Given the description of an element on the screen output the (x, y) to click on. 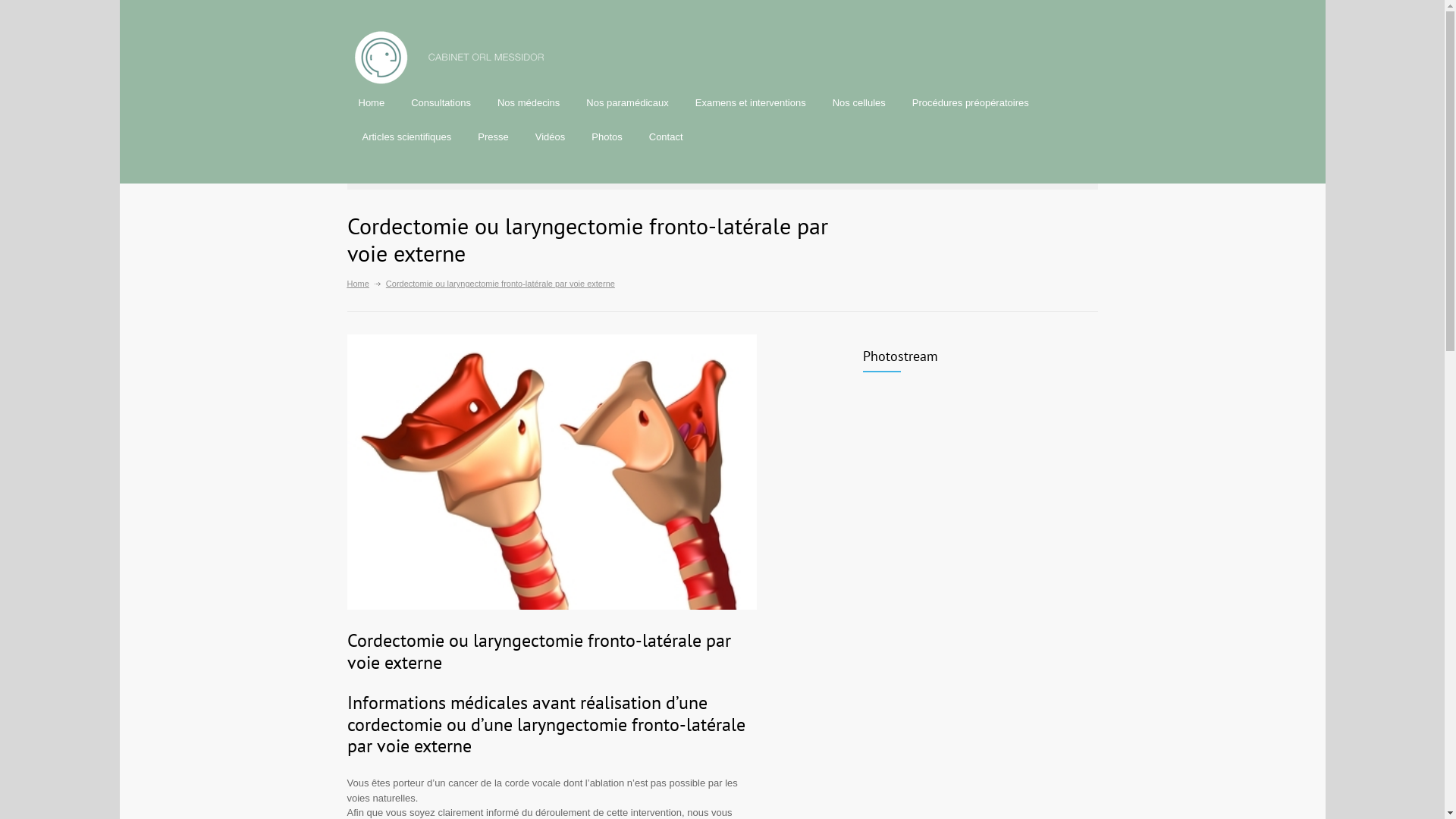
Contact Element type: text (665, 136)
Photos Element type: text (606, 136)
Home Element type: text (358, 283)
Nos cellules Element type: text (859, 102)
Articles scientifiques Element type: text (406, 136)
Consultations Element type: text (440, 102)
Examens et interventions Element type: text (750, 102)
Home Element type: text (371, 102)
Presse Element type: text (492, 136)
